Given the description of an element on the screen output the (x, y) to click on. 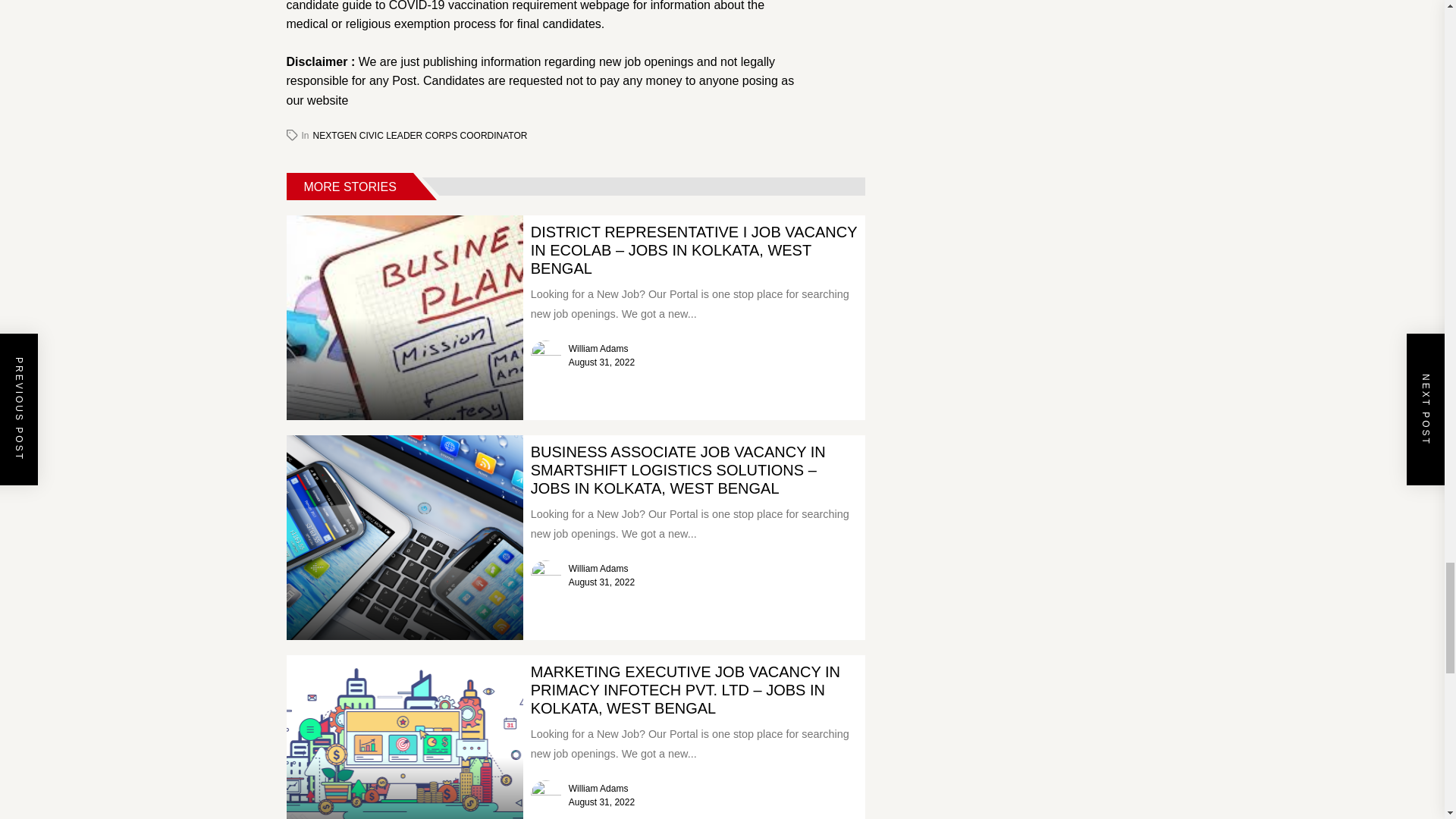
William Adams (598, 568)
William Adams (598, 348)
August 31, 2022 (601, 362)
August 31, 2022 (601, 581)
NEXTGEN CIVIC LEADER CORPS COORDINATOR (420, 135)
